Given the description of an element on the screen output the (x, y) to click on. 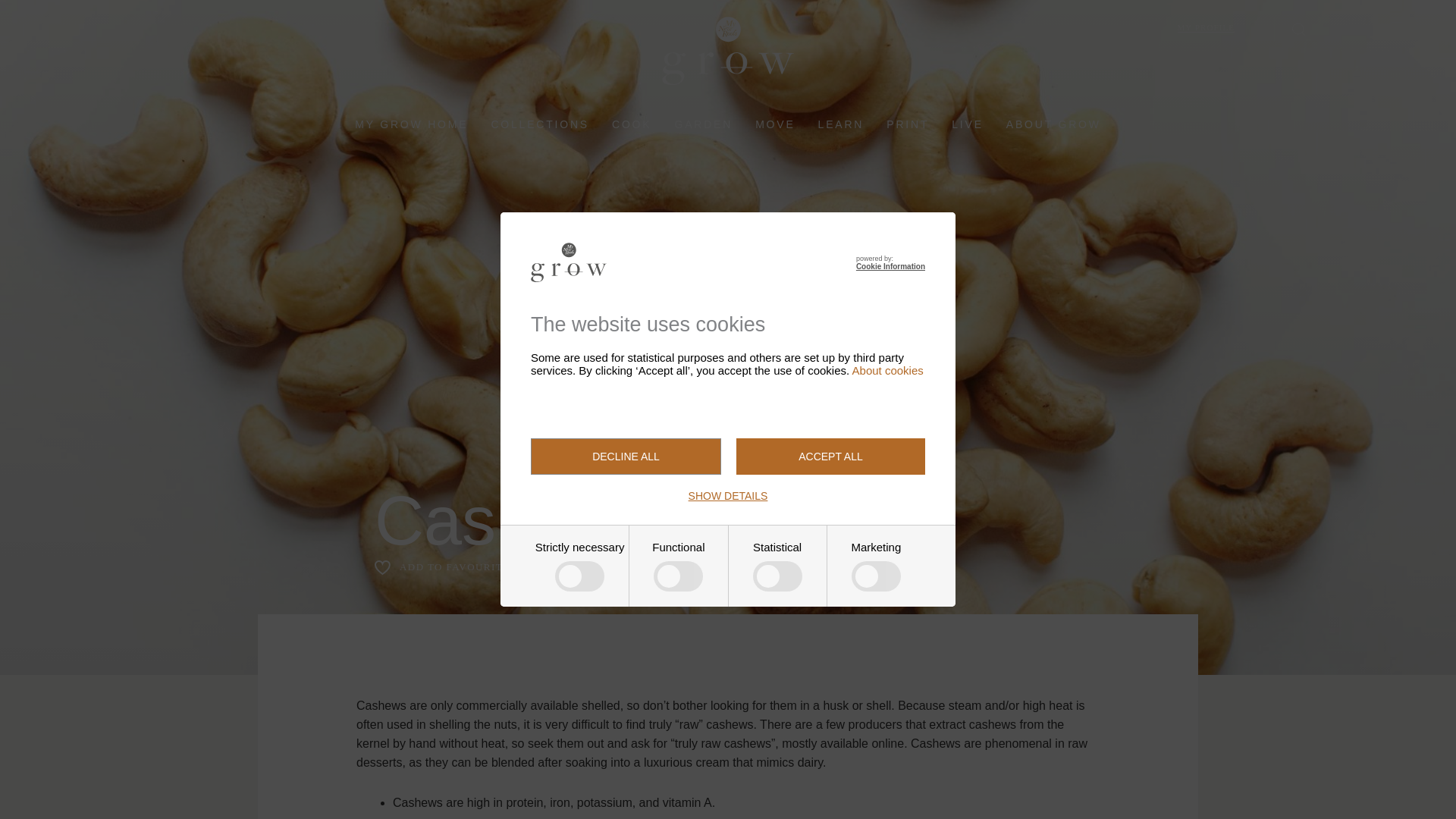
DECLINE ALL (625, 456)
Cookie Information (890, 266)
SHOW DETAILS (728, 495)
ACCEPT ALL (830, 456)
About cookies (887, 369)
